Given the description of an element on the screen output the (x, y) to click on. 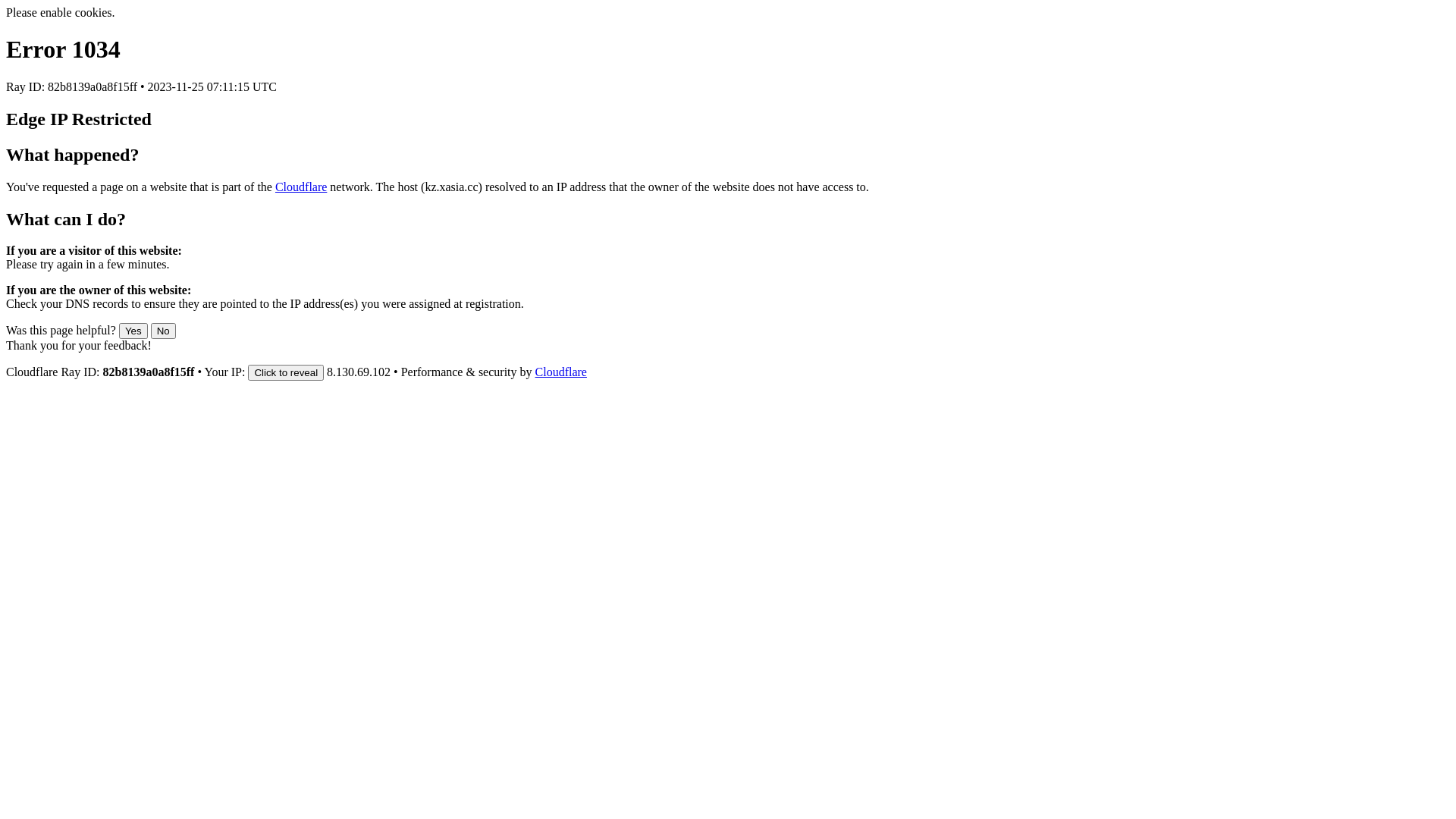
Cloudflare Element type: text (300, 186)
Cloudflare Element type: text (560, 371)
Click to reveal Element type: text (285, 372)
No Element type: text (162, 330)
Yes Element type: text (133, 330)
